Given the description of an element on the screen output the (x, y) to click on. 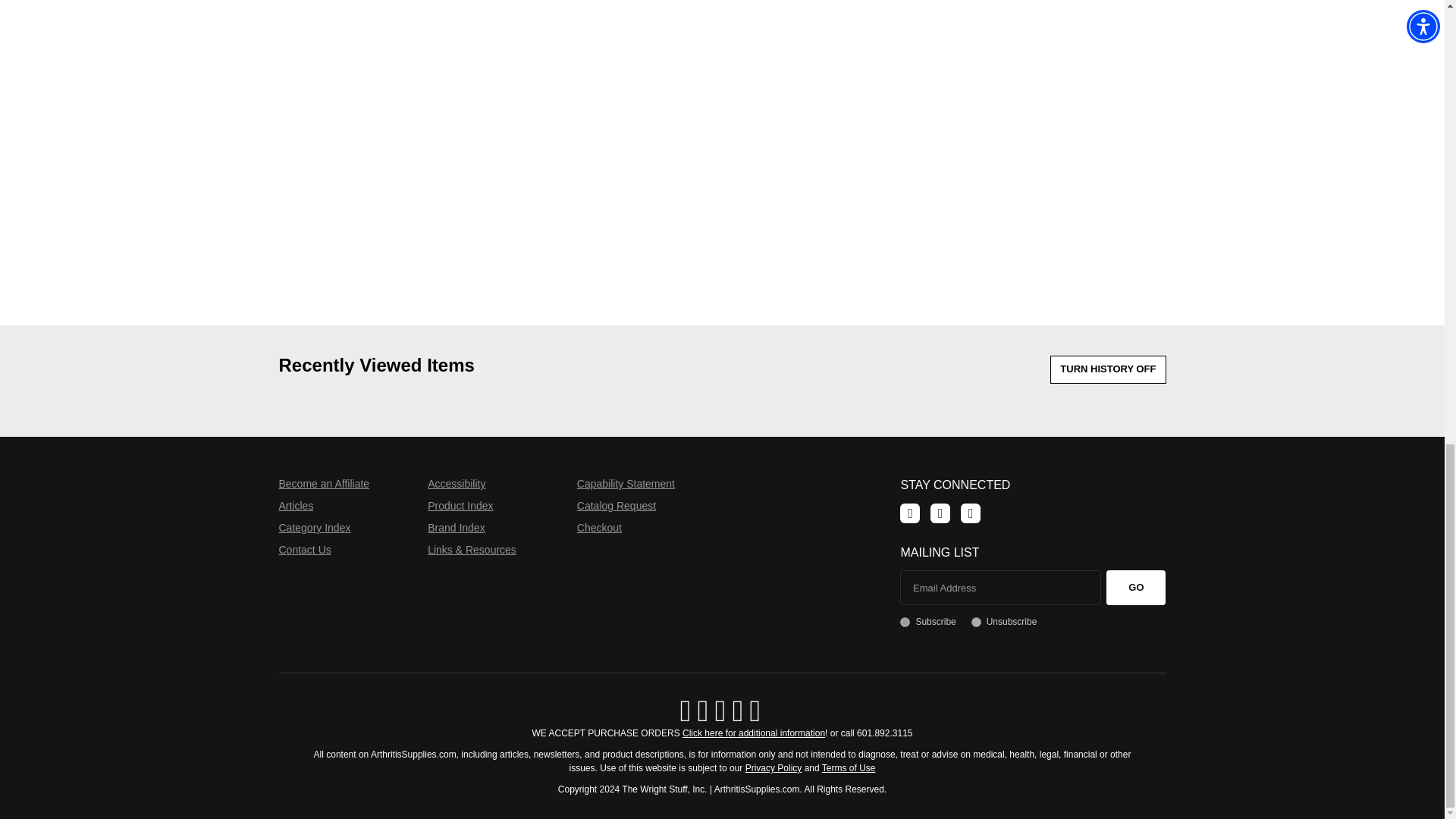
0 (976, 622)
1 (904, 622)
